Given the description of an element on the screen output the (x, y) to click on. 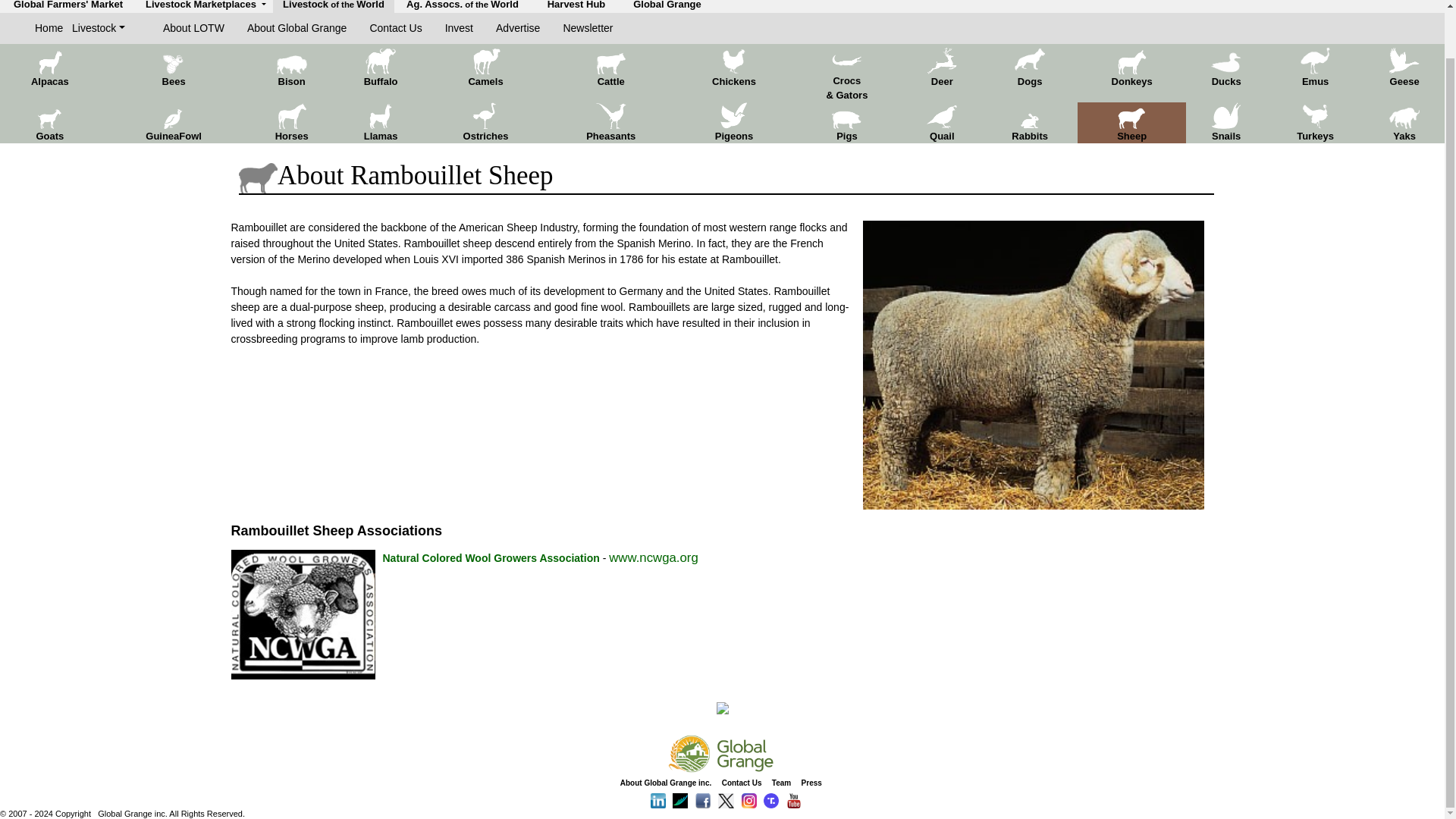
Livestock (98, 28)
Livestock of the World (333, 4)
Global Farmers' Market (67, 4)
Livestock Marketplaces (205, 4)
Harvest Hub (576, 4)
Ag. Assocs. of the World (462, 4)
Home    (52, 28)
Global Grange (667, 4)
